Given the description of an element on the screen output the (x, y) to click on. 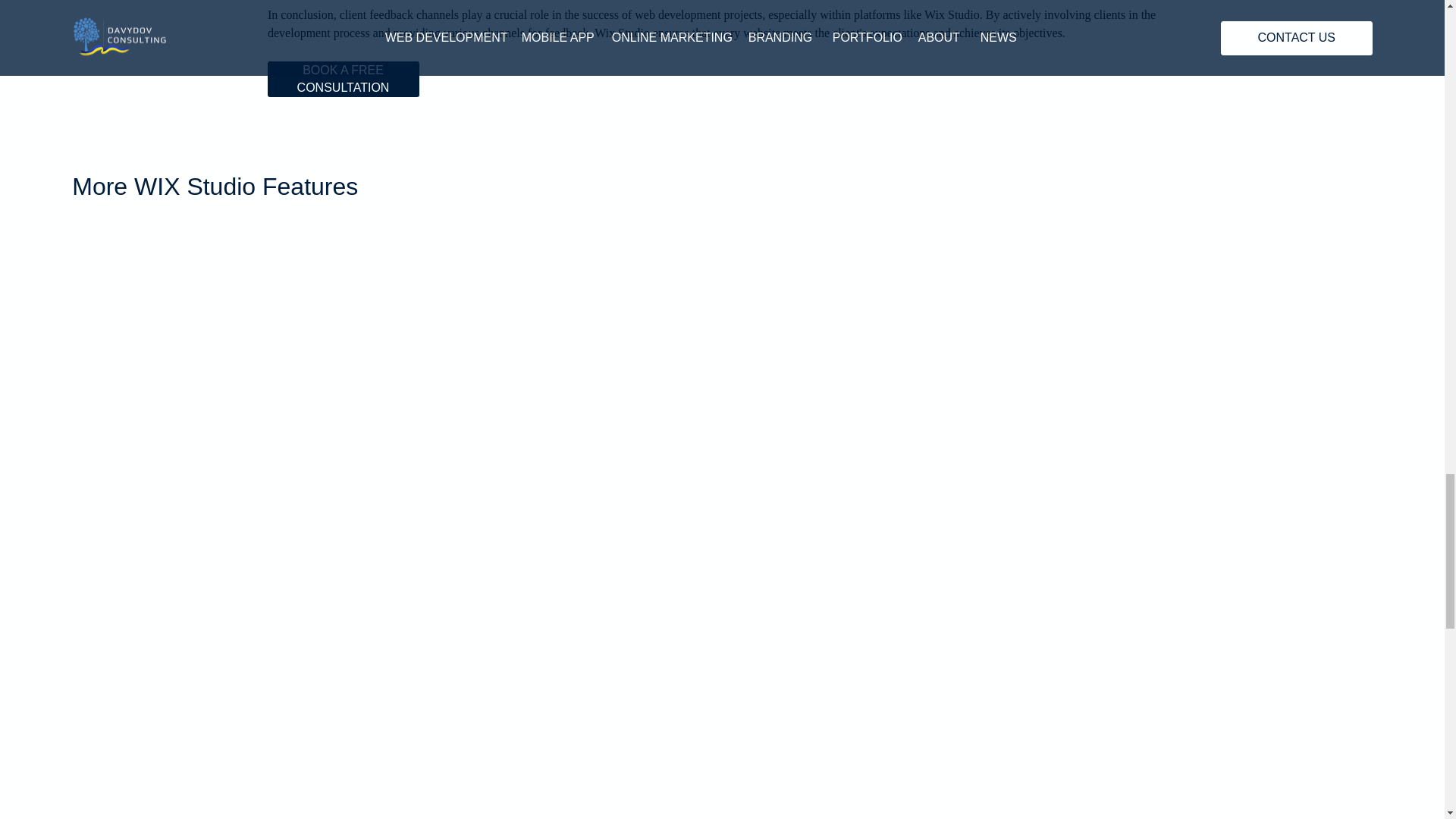
BOOK A FREE CONSULTATION (342, 79)
